Given the description of an element on the screen output the (x, y) to click on. 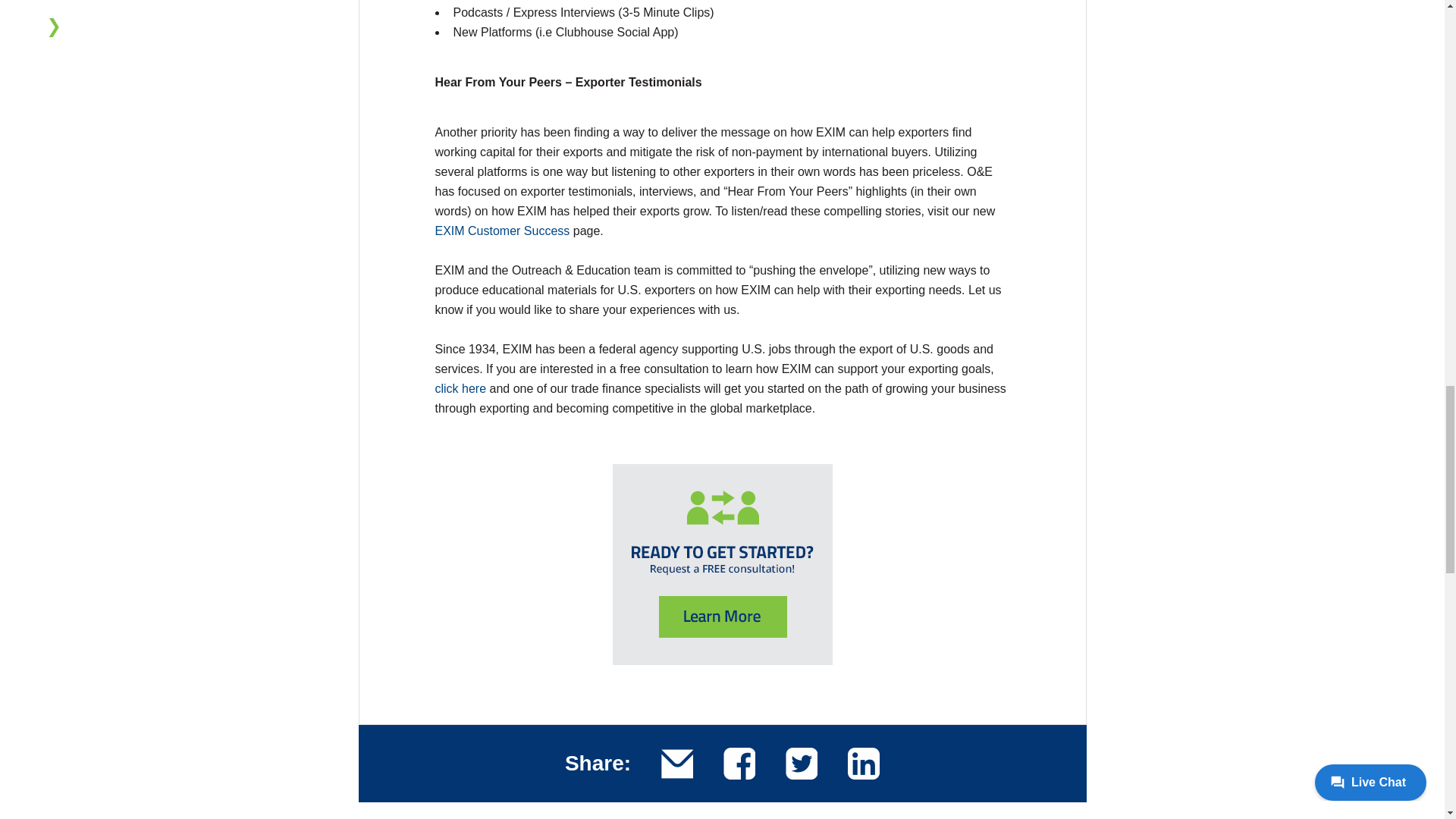
Share this blog post on Facebook (739, 763)
Share this blog post on Twitter (801, 763)
Share this blog post on LinkedIn (863, 763)
click here (462, 388)
Email this blog post (677, 763)
EXIM Customer Success (502, 230)
